Given the description of an element on the screen output the (x, y) to click on. 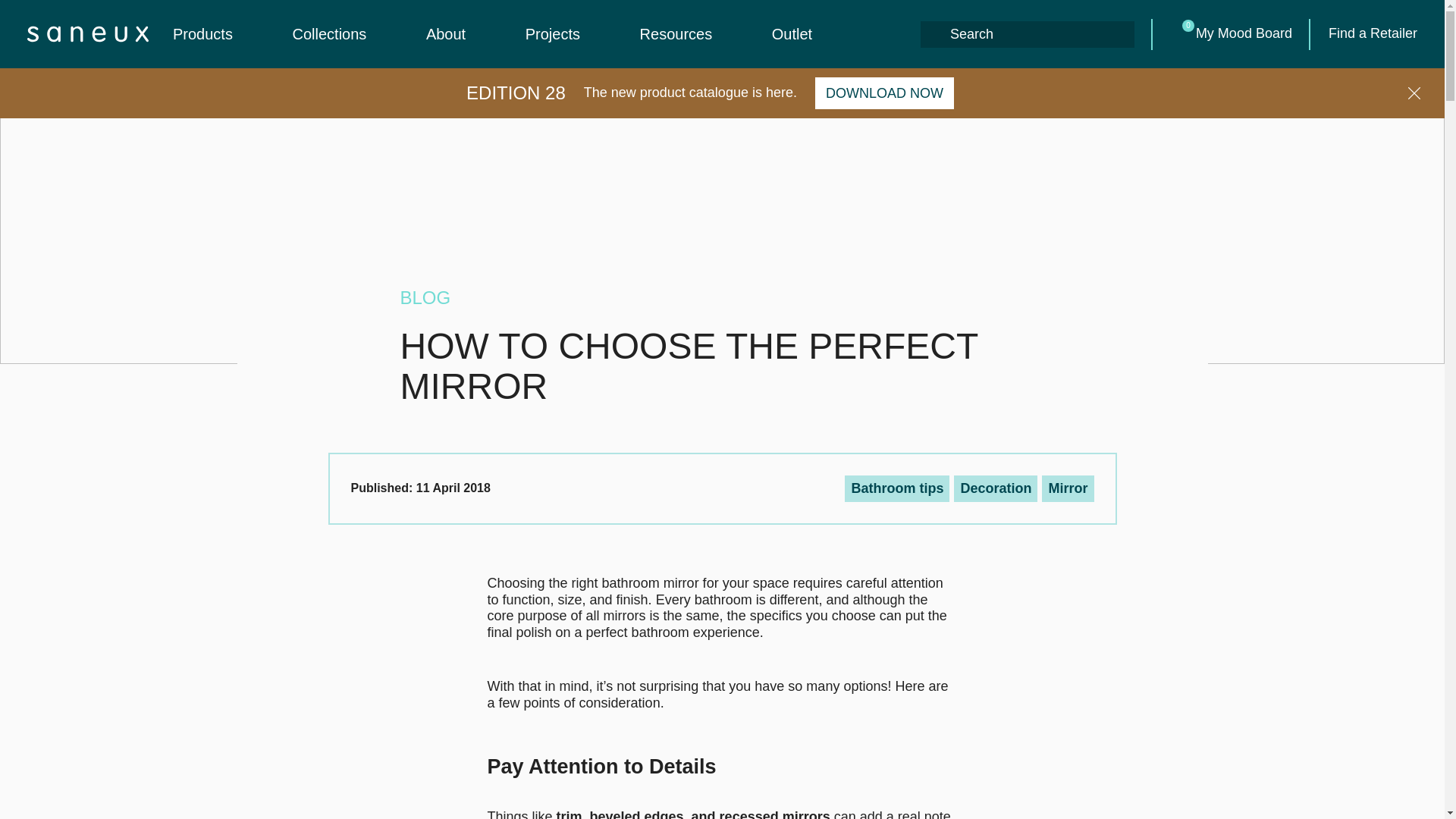
Products (218, 35)
Saneux (87, 33)
